Given the description of an element on the screen output the (x, y) to click on. 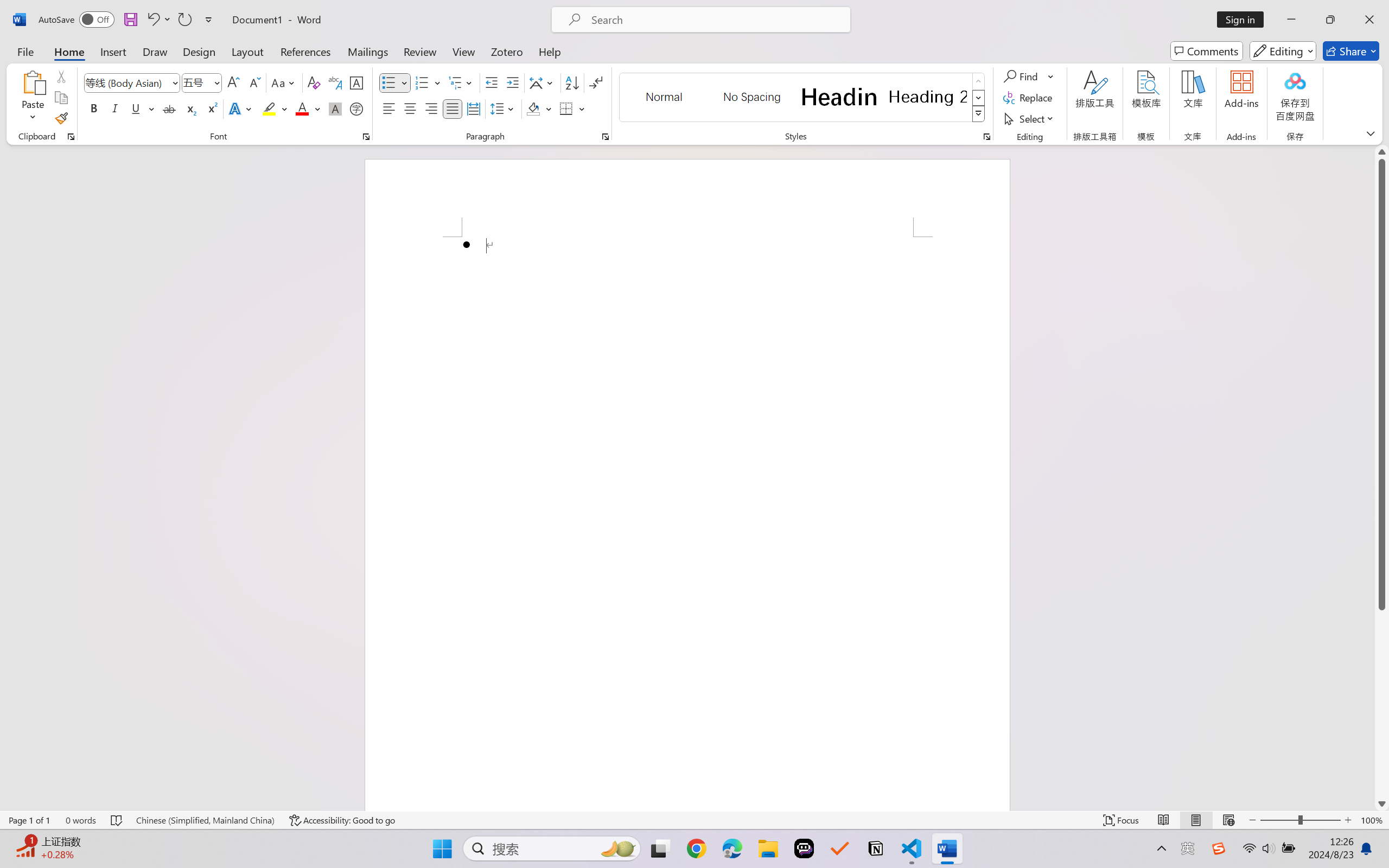
Arabic (794, 145)
English (724, 145)
Settings (1274, 71)
Main menu (18, 71)
Google Translate (78, 72)
Text translation (364, 111)
0 of 5,000 characters used (627, 246)
Image translation (419, 111)
Website translation (557, 111)
Document translation (486, 111)
